Given the description of an element on the screen output the (x, y) to click on. 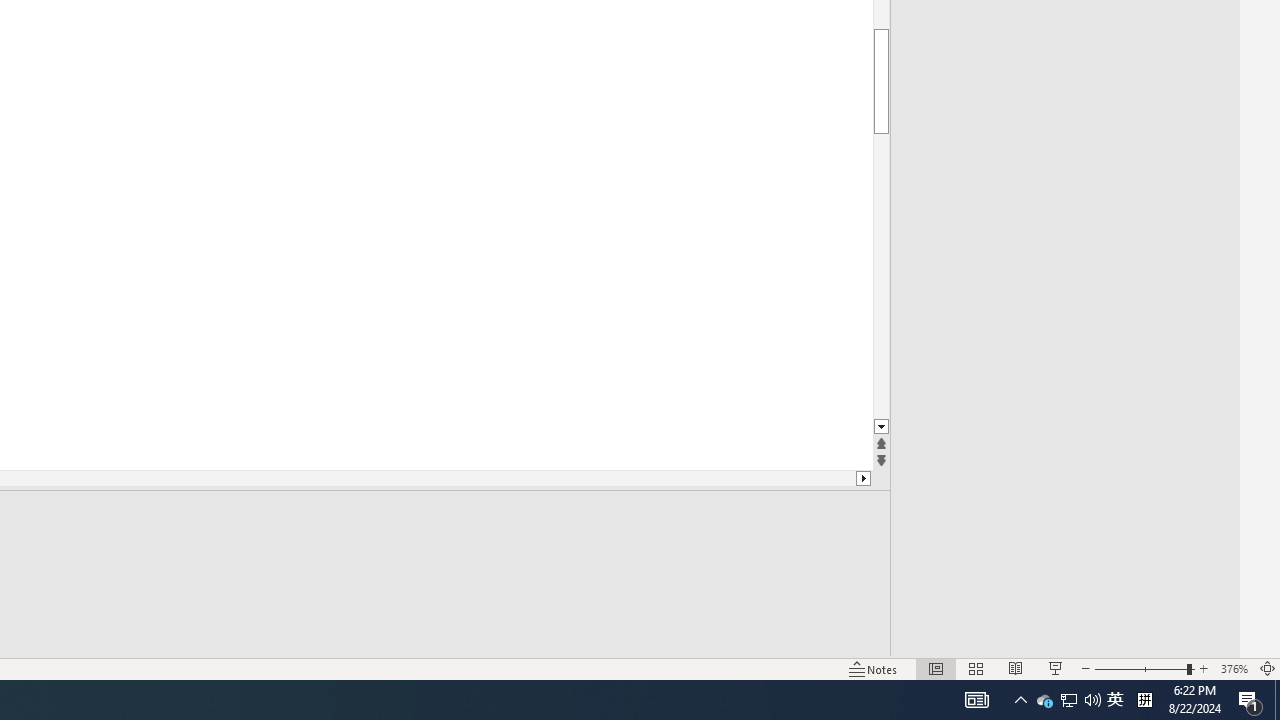
Zoom 376% (1234, 668)
